Given the description of an element on the screen output the (x, y) to click on. 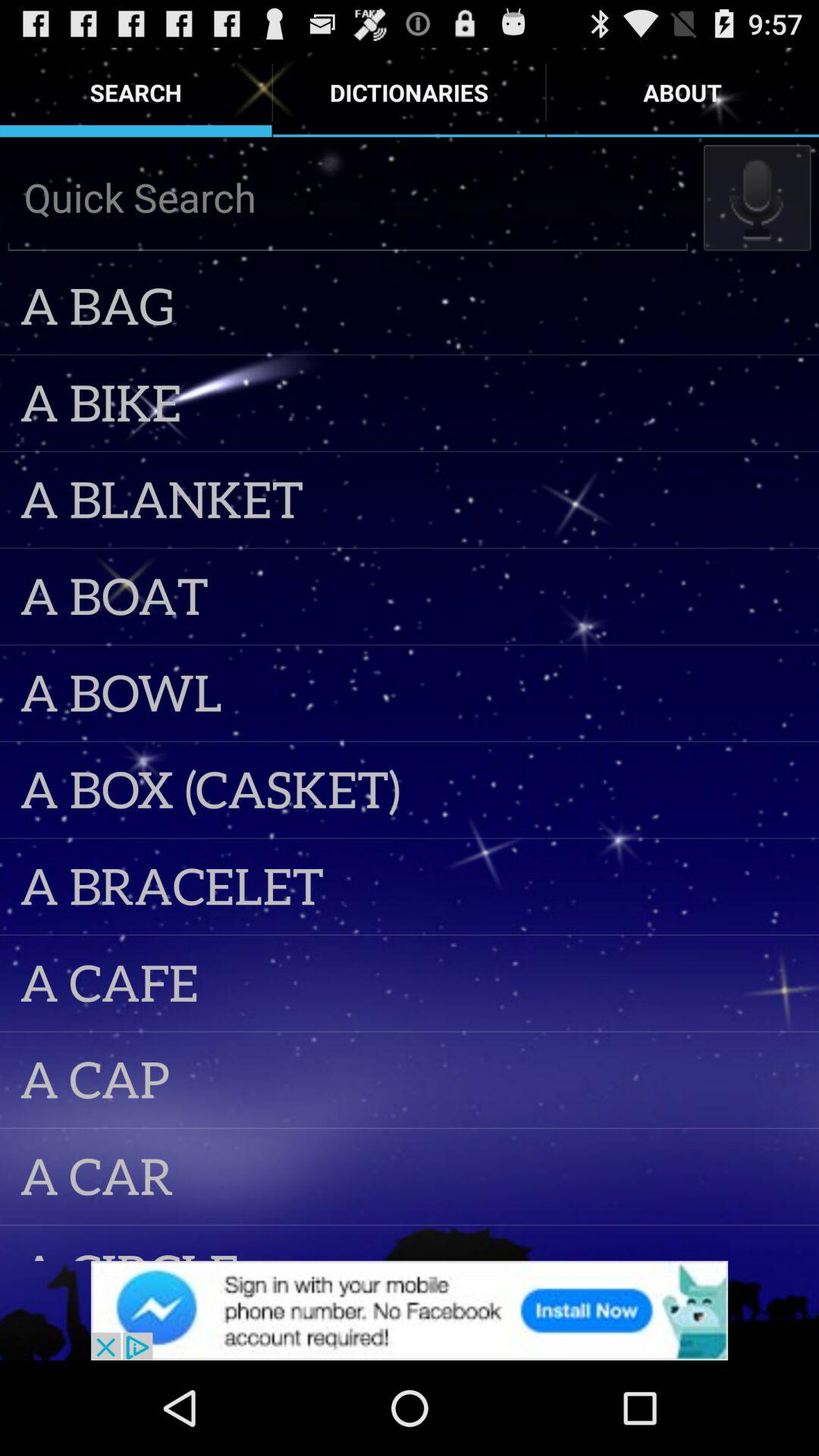
select the quick search option (347, 197)
